Given the description of an element on the screen output the (x, y) to click on. 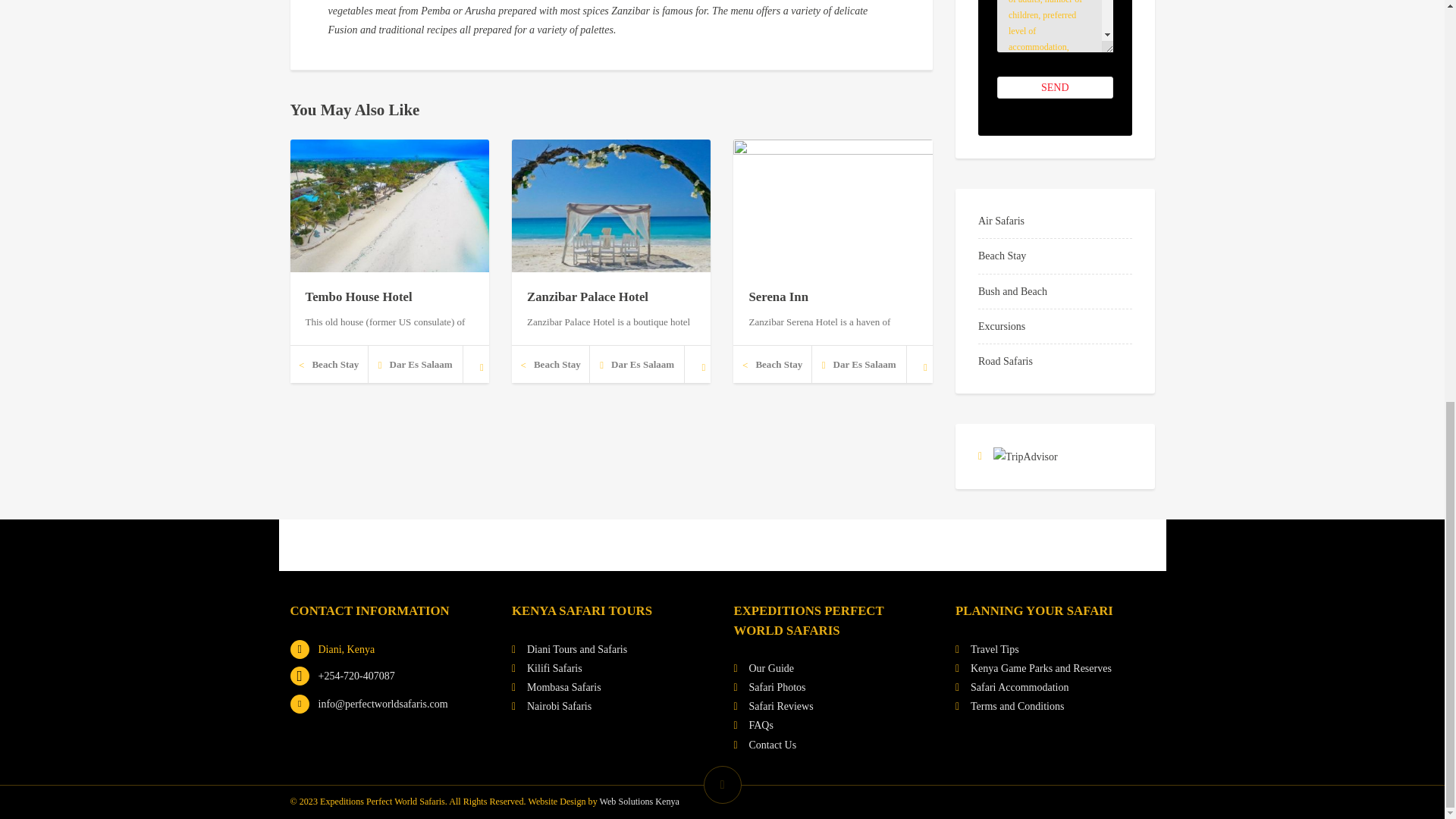
Zanzibar Palace Hotel (587, 296)
Tembo House Hotel (358, 296)
Send (1055, 87)
